Given the description of an element on the screen output the (x, y) to click on. 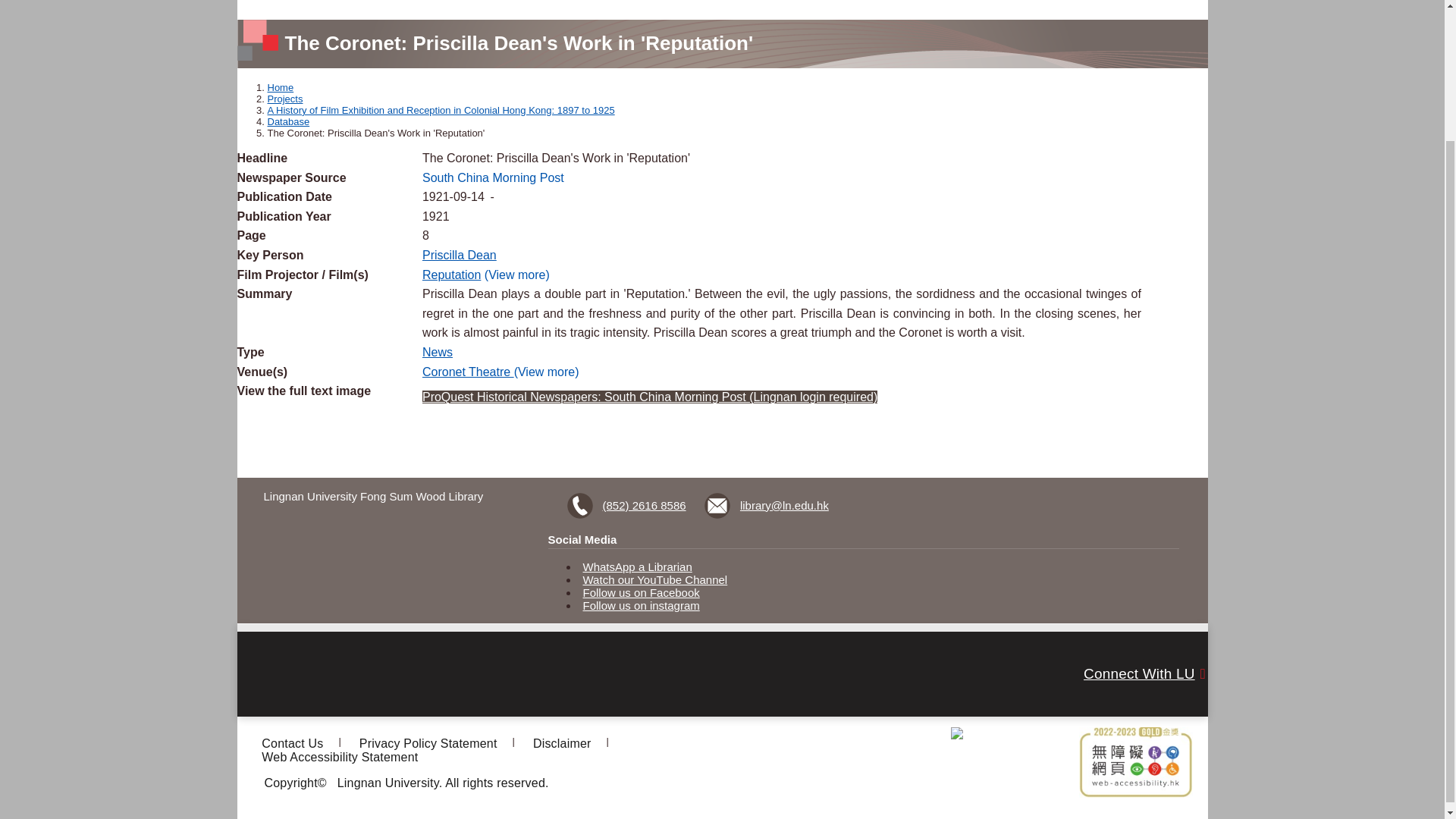
Coronet Theatre (467, 371)
Follow us on Facebook (641, 592)
WhatsApp a Librarian (638, 566)
Email (766, 505)
Phone Number (629, 505)
Watch our YouTube Channel (655, 579)
Follow us on instagram (641, 604)
